Given the description of an element on the screen output the (x, y) to click on. 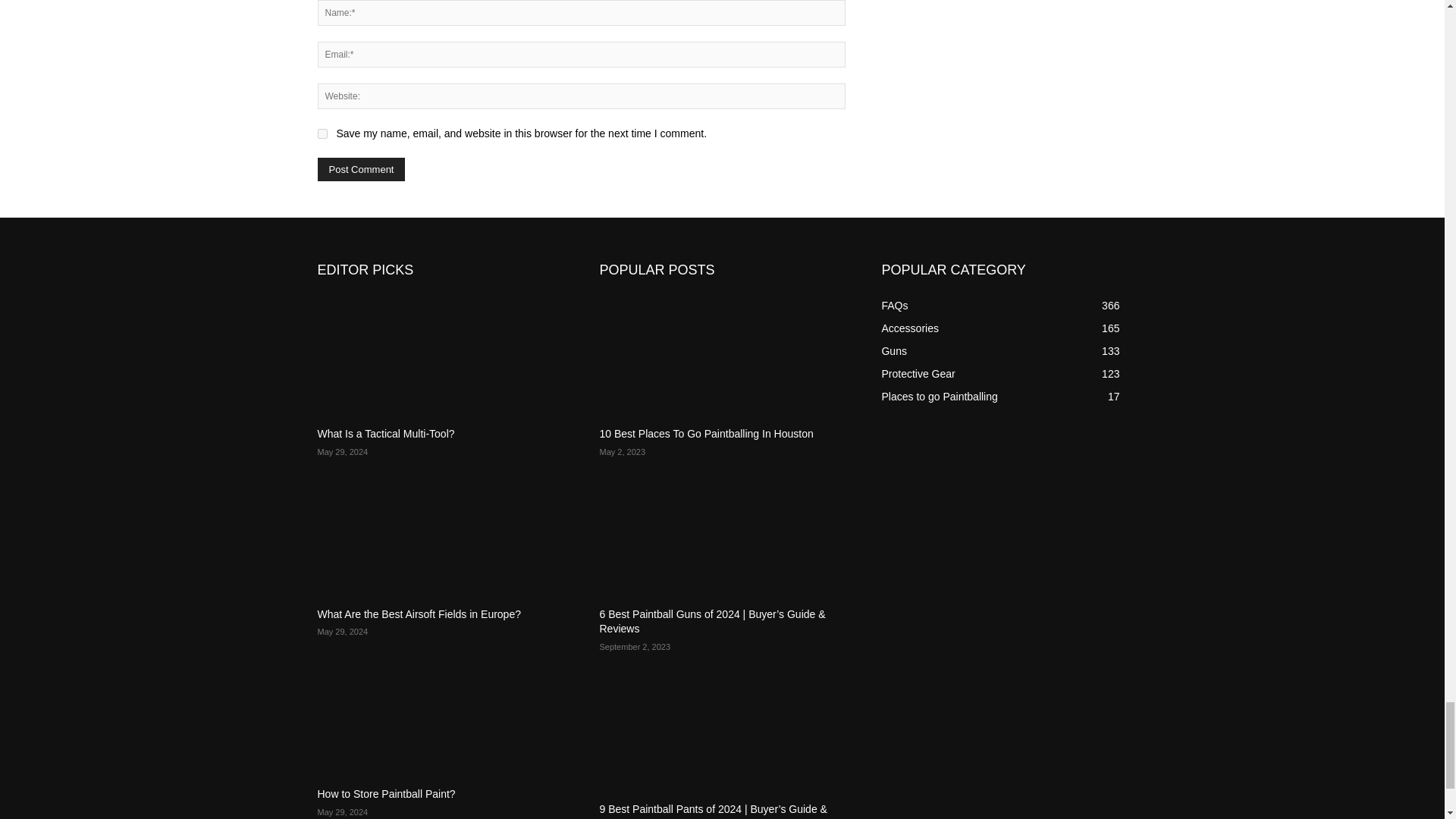
Post Comment (360, 169)
yes (321, 133)
